Given the description of an element on the screen output the (x, y) to click on. 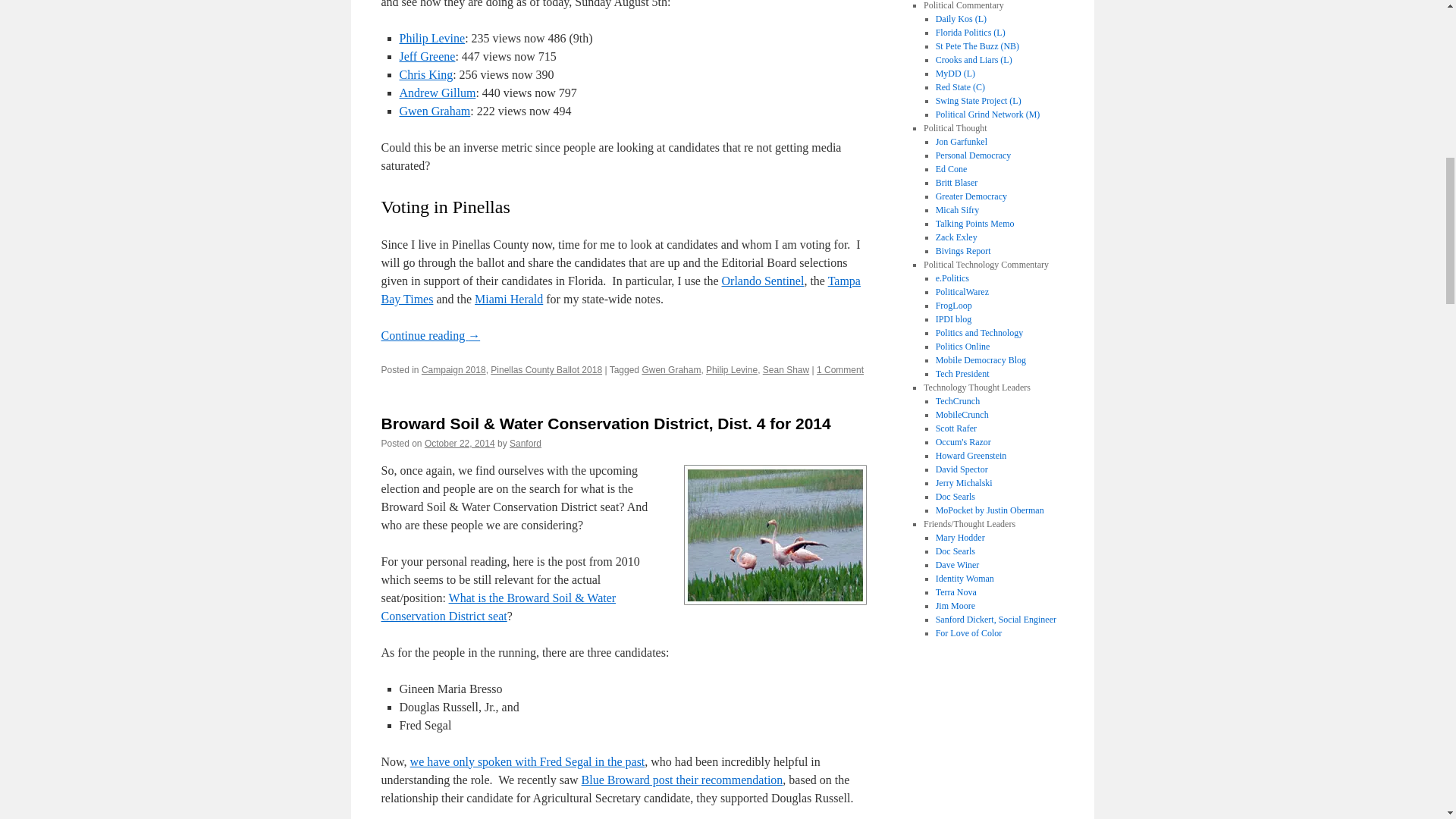
Campaign 2018 (454, 369)
Pinellas County Ballot 2018 (546, 369)
Blue Broward post their recommendation (681, 779)
Chris King (425, 74)
October 22, 2014 (460, 443)
Gwen Graham (434, 110)
Sanford (525, 443)
we have only spoken with Fred Segal in the past (527, 761)
1 Comment (839, 369)
View all posts by Sanford (525, 443)
